Given the description of an element on the screen output the (x, y) to click on. 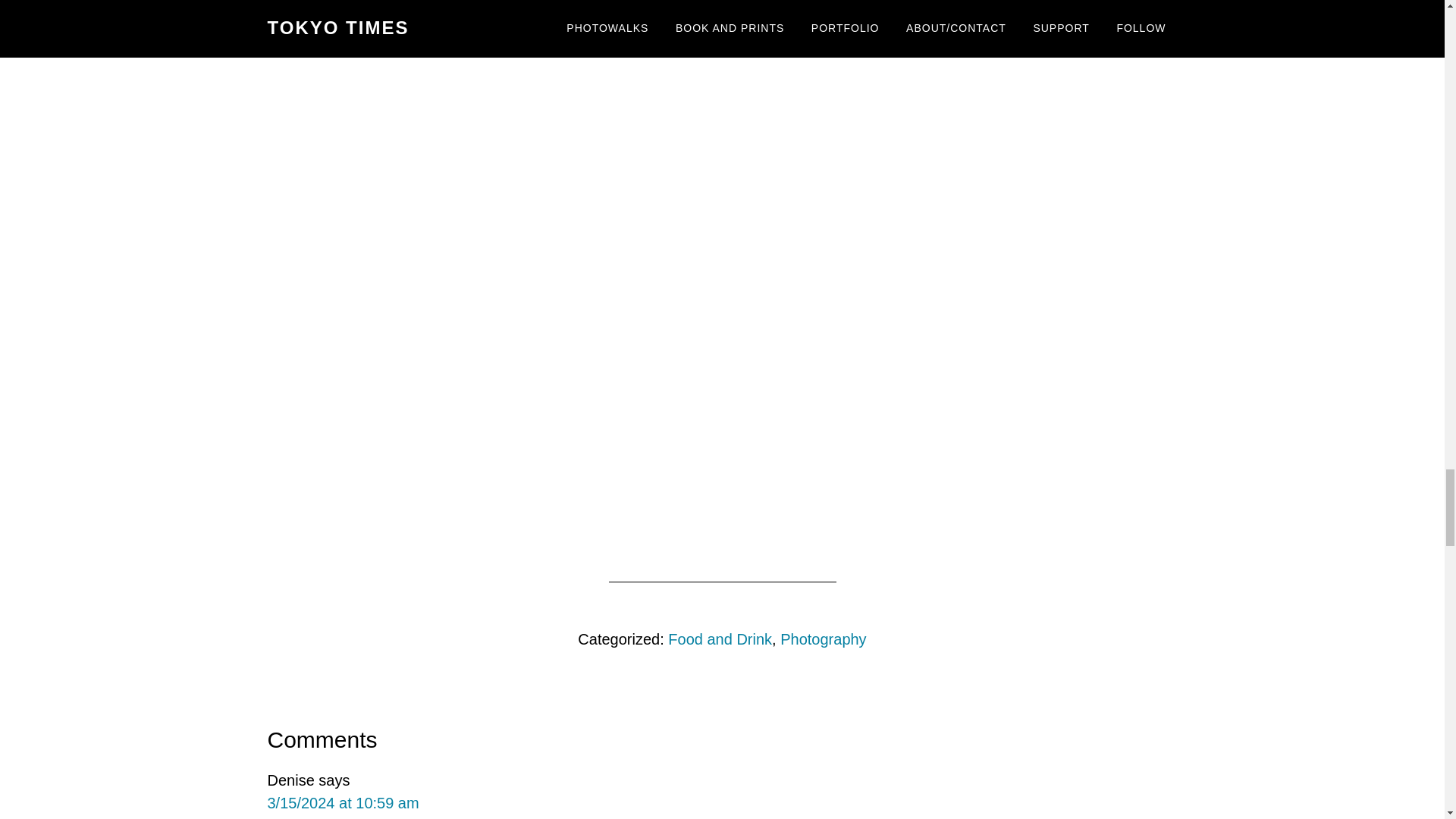
Photography (823, 638)
Food and Drink (719, 638)
